Given the description of an element on the screen output the (x, y) to click on. 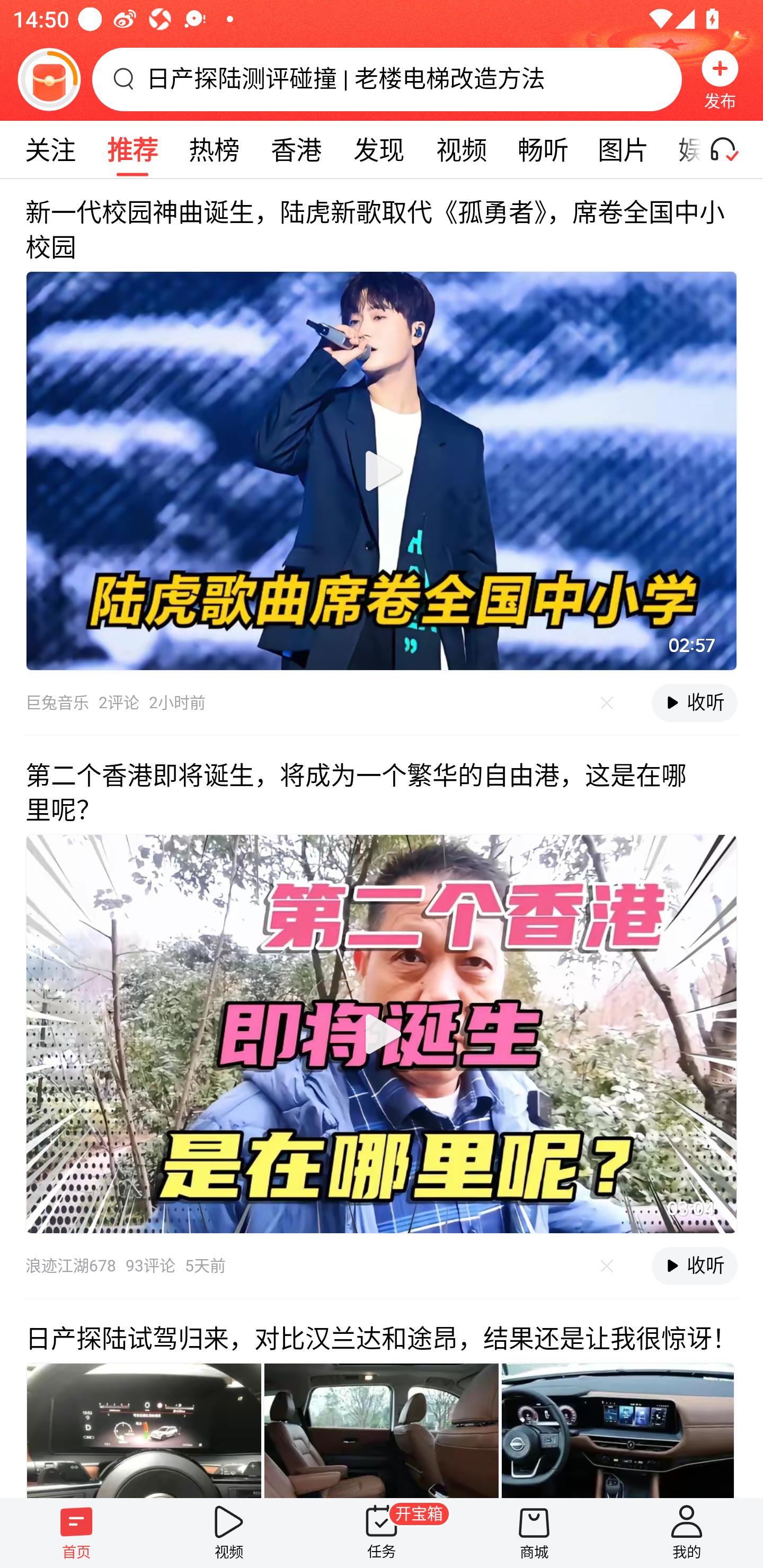
阅读赚金币 (48, 79)
日产探陆测评碰撞 | 老楼电梯改造方法 搜索框，日产探陆测评碰撞 | 老楼电梯改造方法 (387, 79)
发布 发布，按钮 (720, 78)
关注 (50, 149)
推荐 (132, 149)
热榜 (213, 149)
香港 (295, 149)
发现 (378, 149)
视频 (461, 149)
畅听 (542, 149)
图片 (623, 149)
听一听开关 (732, 149)
播放视频 视频播放器，双击屏幕打开播放控制 (381, 471)
播放视频 (381, 470)
收听 (694, 702)
不感兴趣 (607, 702)
播放视频 视频播放器，双击屏幕打开播放控制 (381, 1034)
播放视频 (381, 1033)
收听 (694, 1265)
不感兴趣 (607, 1265)
三张内容图片 内容图片 内容图片 内容图片 (381, 1429)
内容图片 (381, 1429)
内容图片 (617, 1429)
首页 (76, 1532)
视频 (228, 1532)
任务 开宝箱 (381, 1532)
商城 (533, 1532)
我的 (686, 1532)
